Given the description of an element on the screen output the (x, y) to click on. 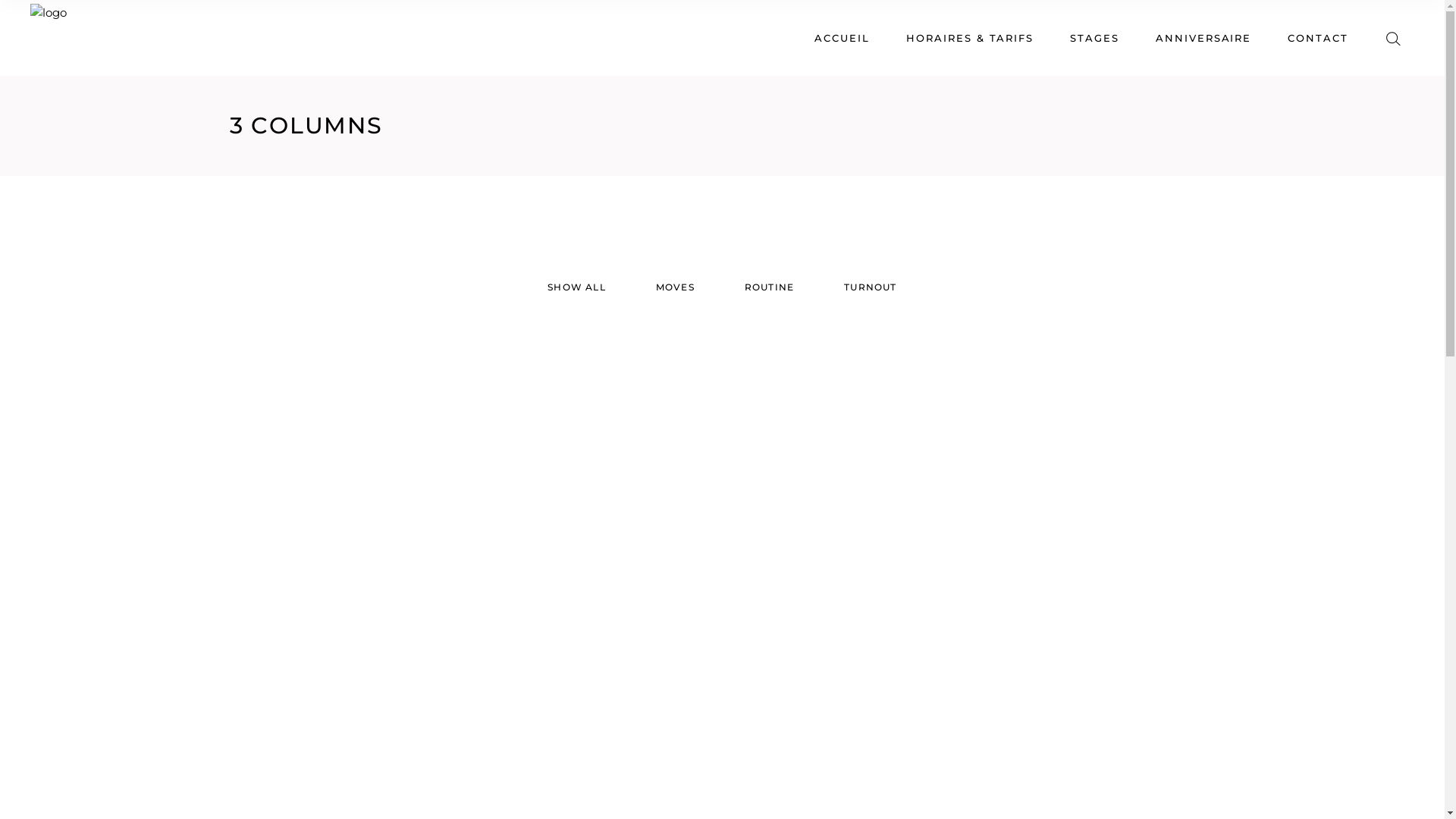
STAGES Element type: text (1094, 37)
ANNIVERSAIRE Element type: text (1203, 37)
HORAIRES & TARIFS Element type: text (969, 37)
ACCUEIL Element type: text (842, 37)
CONTACT Element type: text (1317, 37)
